Given the description of an element on the screen output the (x, y) to click on. 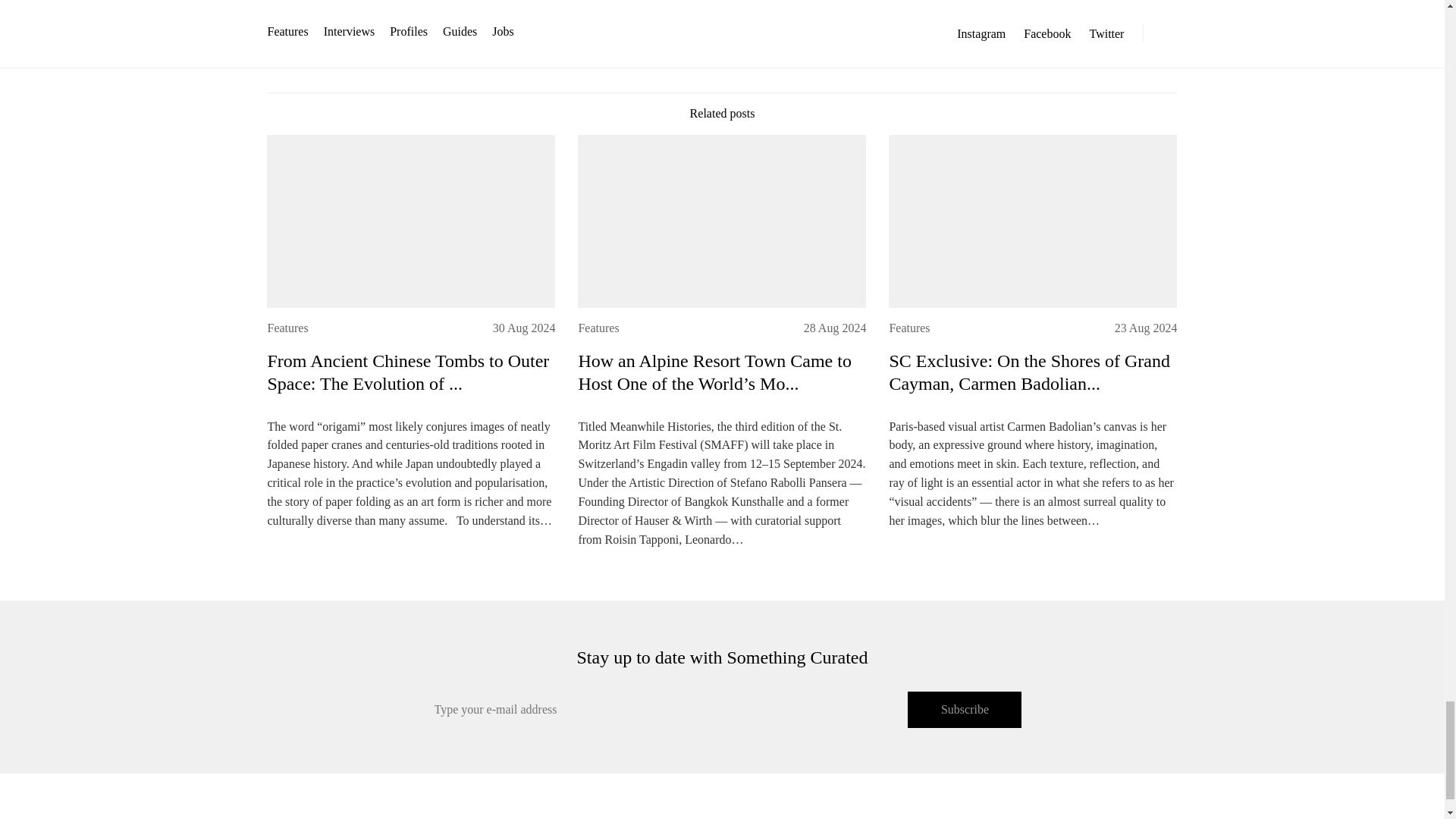
Share this article (721, 25)
Subscribe (964, 709)
Features (598, 327)
Features (286, 327)
28 Aug 2024 (834, 327)
Share this article (721, 24)
30 Aug 2024 (524, 327)
